Given the description of an element on the screen output the (x, y) to click on. 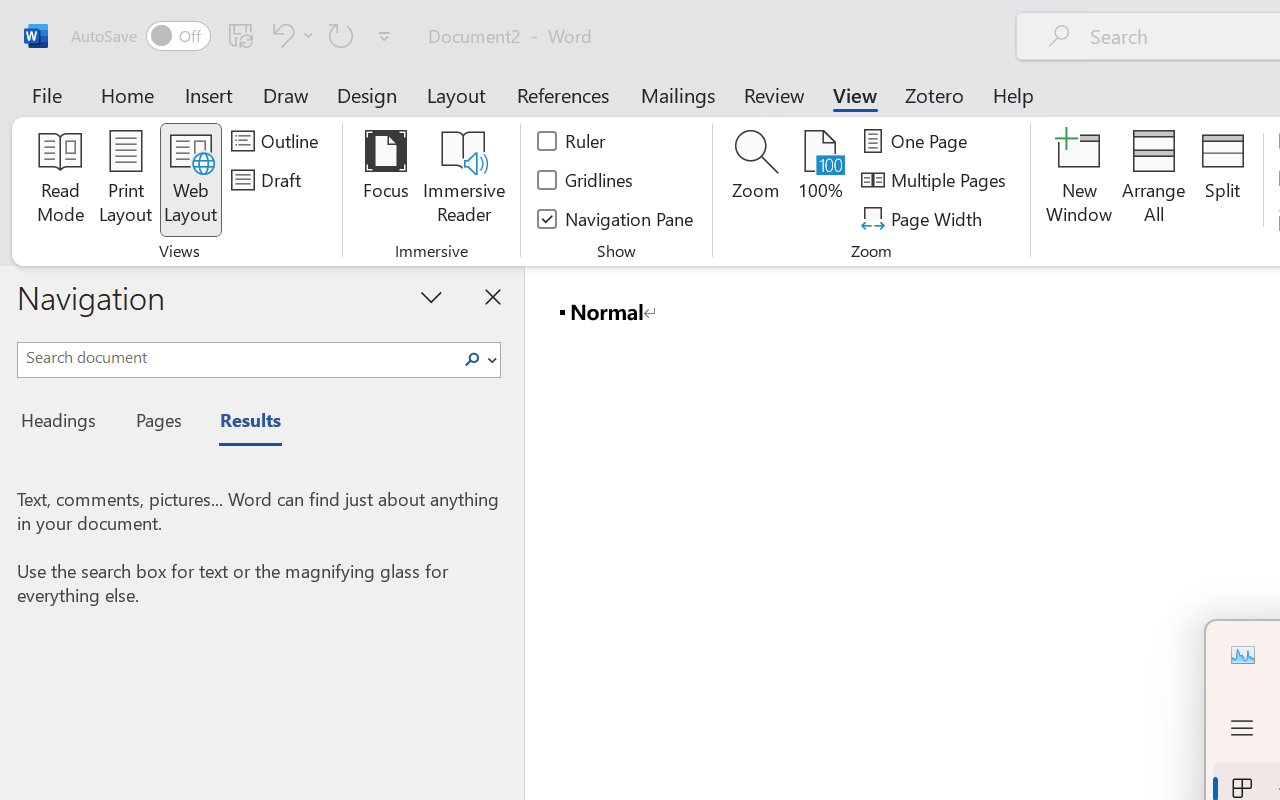
Zoom... (755, 179)
Help (1013, 94)
Search (478, 359)
